Given the description of an element on the screen output the (x, y) to click on. 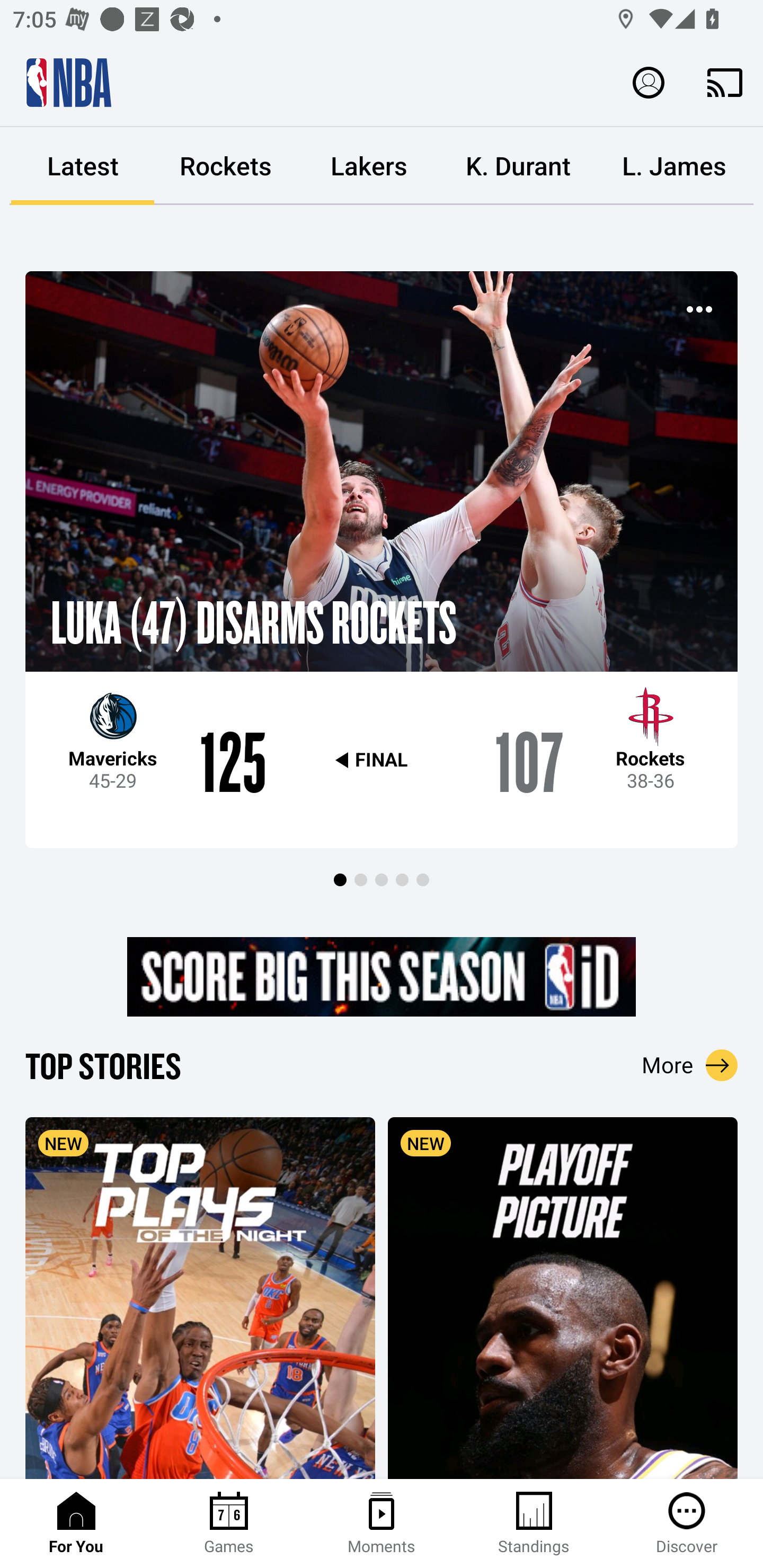
Cast. Disconnected (724, 82)
Profile (648, 81)
Rockets (225, 166)
Lakers (368, 166)
K. Durant (518, 166)
L. James (673, 166)
TOP STORIES More NEW NEW (381, 1260)
More (689, 1064)
NEW (200, 1297)
NEW (562, 1297)
Games (228, 1523)
Moments (381, 1523)
Standings (533, 1523)
Discover (686, 1523)
